Given the description of an element on the screen output the (x, y) to click on. 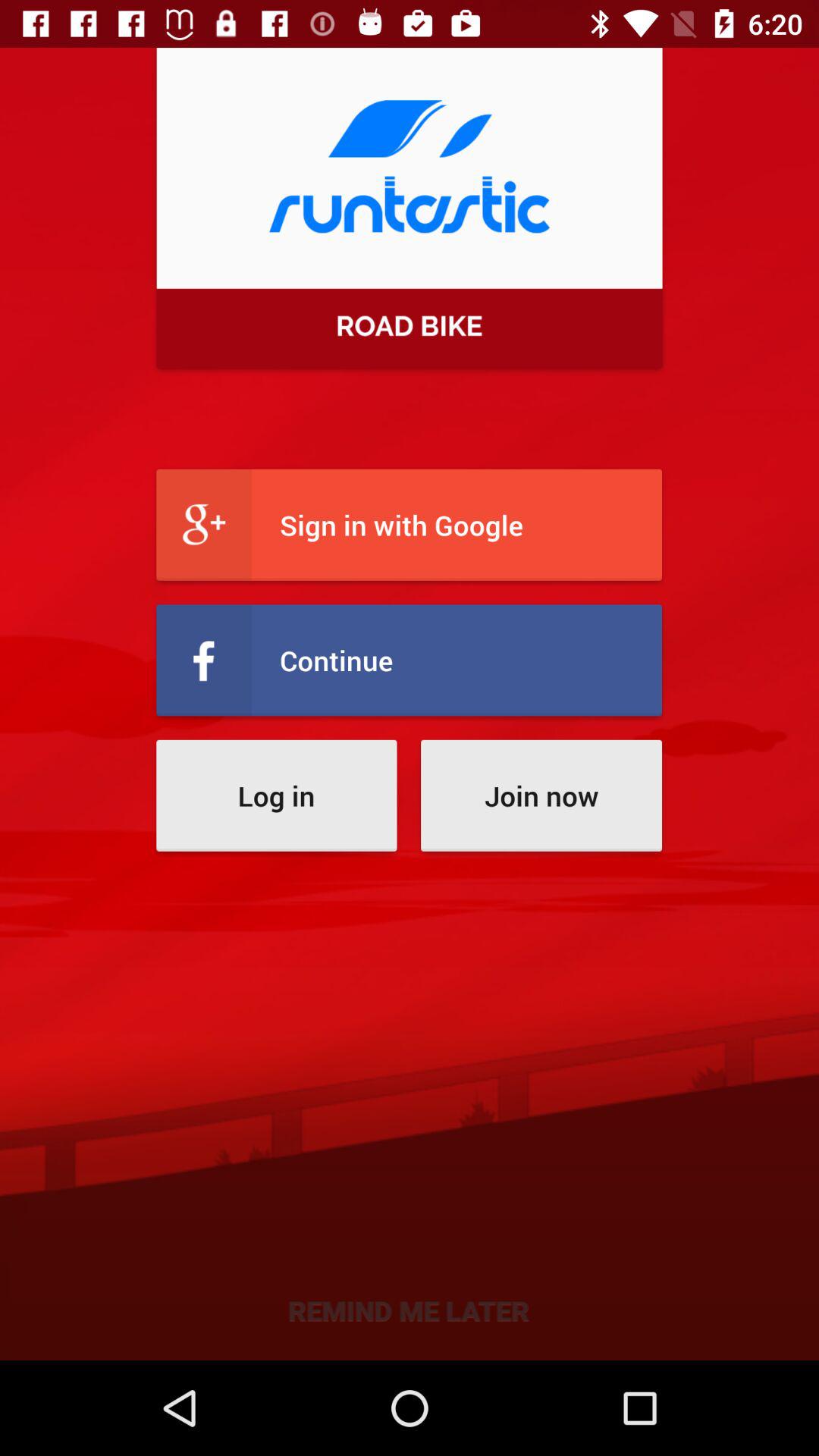
select icon to the right of log in (541, 795)
